Given the description of an element on the screen output the (x, y) to click on. 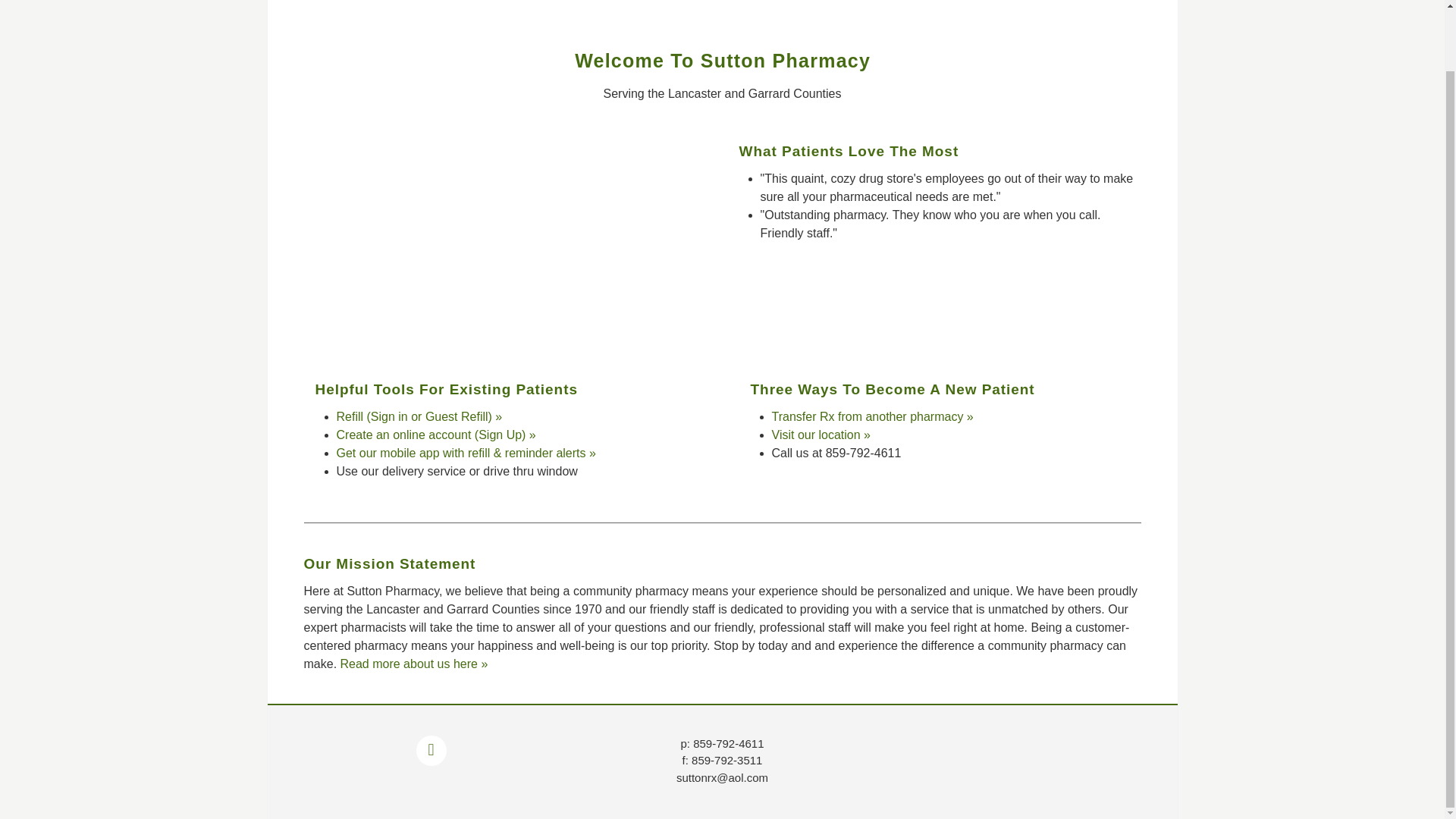
Contact (946, 0)
Mobile (884, 0)
Reviews (822, 0)
